Given the description of an element on the screen output the (x, y) to click on. 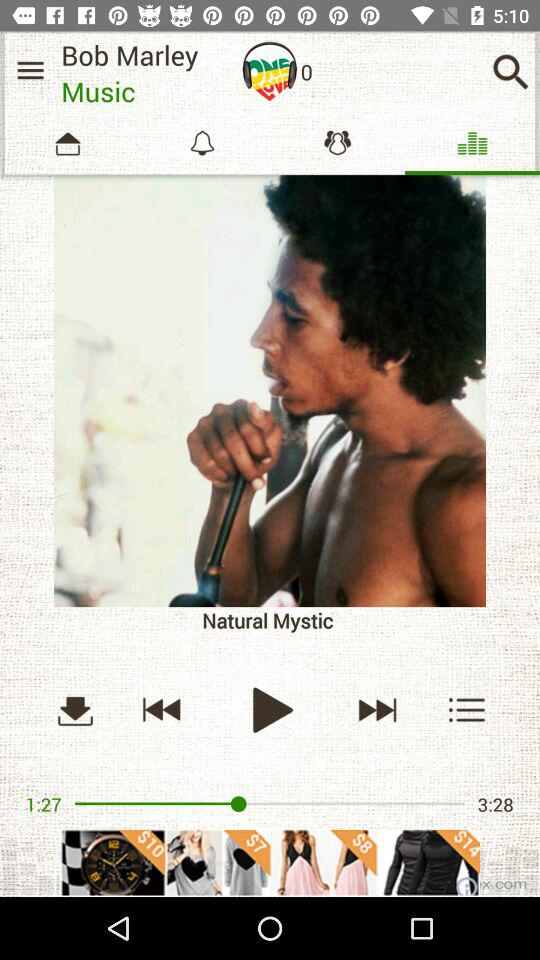
rewind song (162, 709)
